Given the description of an element on the screen output the (x, y) to click on. 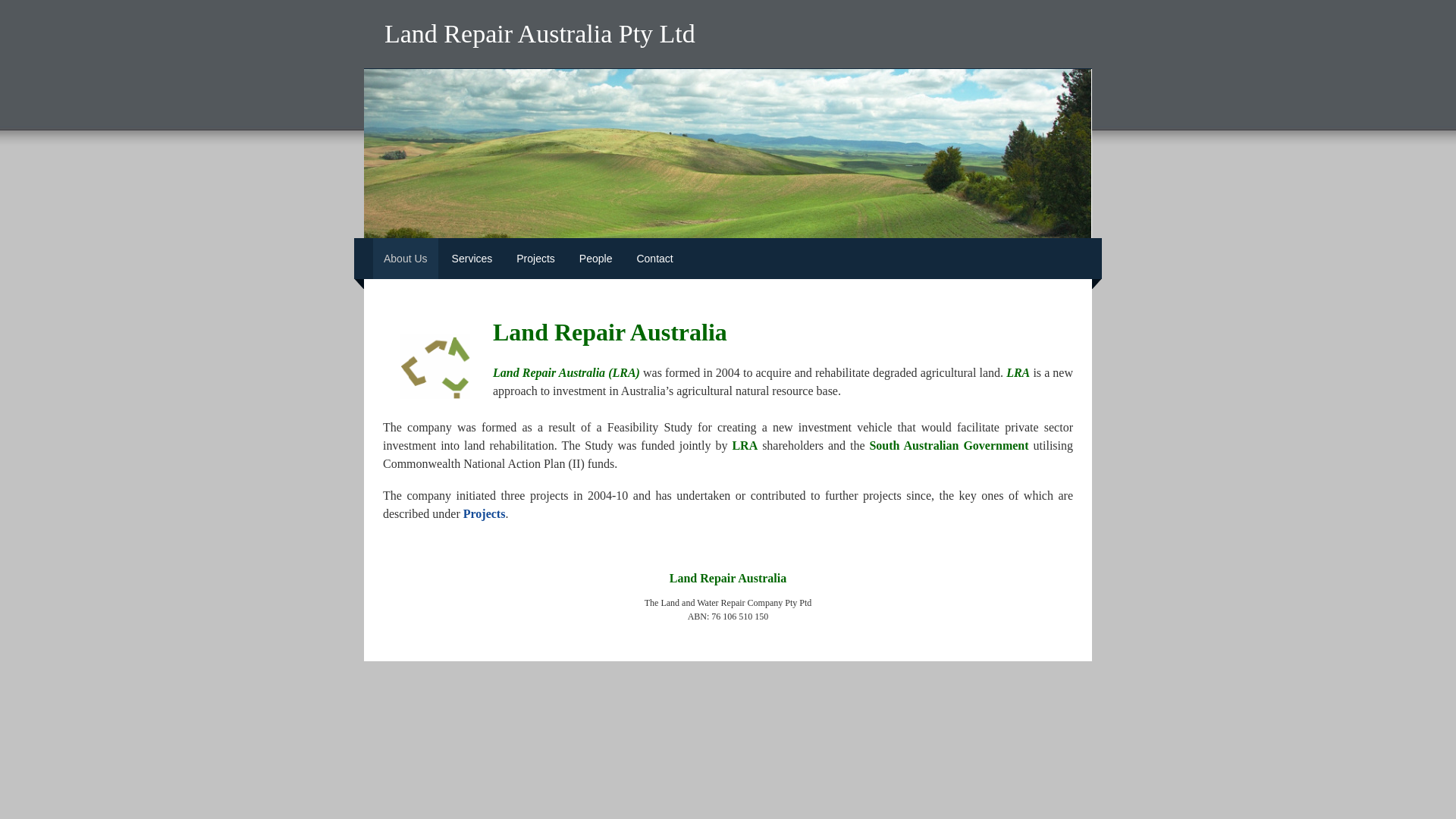
Projects Element type: text (484, 513)
Projects Element type: text (535, 258)
Land Repair Australia Pty Ltd Element type: text (539, 35)
Contact Element type: text (654, 258)
Services Element type: text (472, 258)
People Element type: text (595, 258)
About Us Element type: text (405, 258)
